Given the description of an element on the screen output the (x, y) to click on. 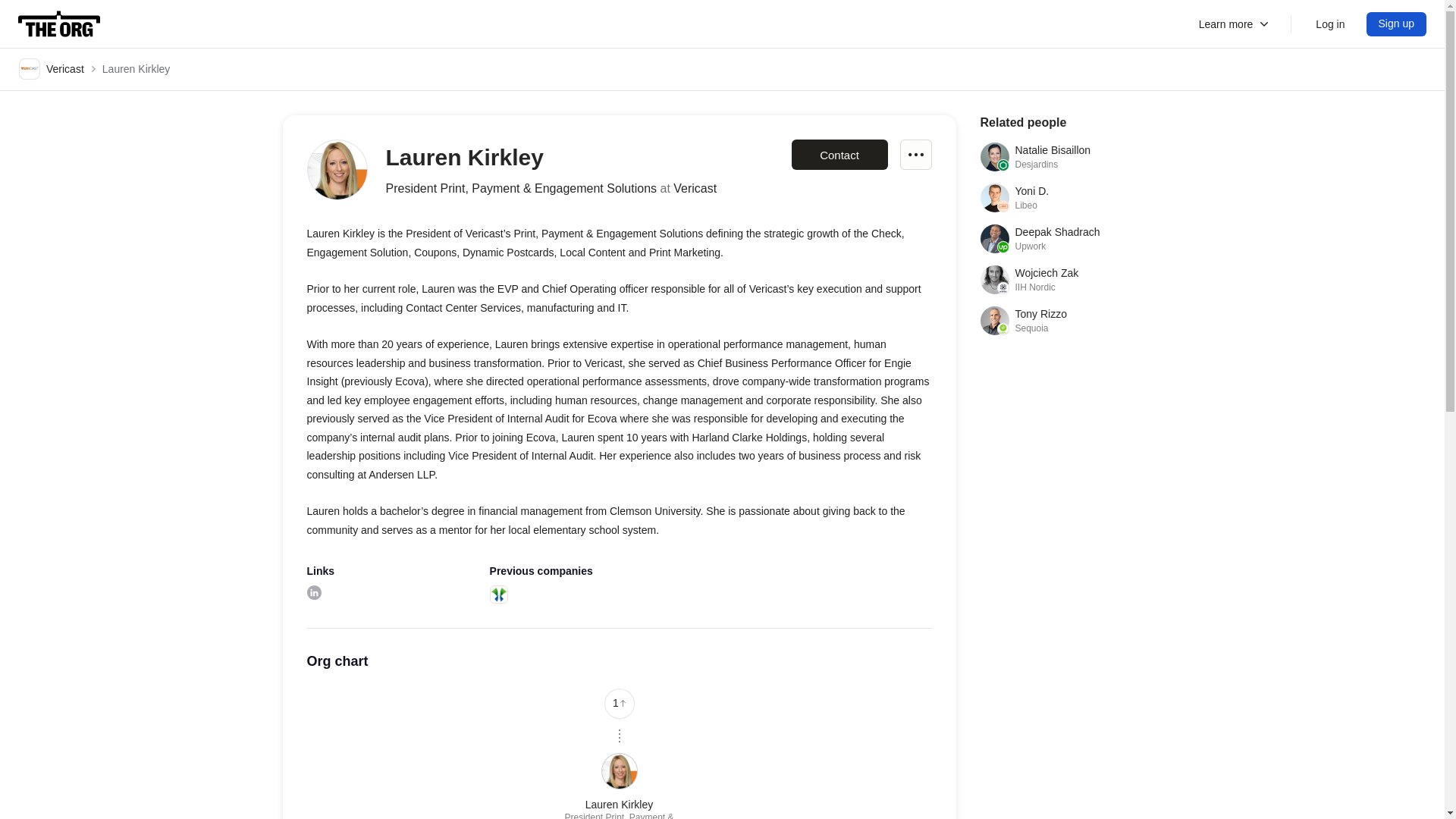
1 (618, 703)
Sign up to The Org (1396, 24)
Join, edit and report menu (1070, 197)
View on linkedIn (1070, 238)
The Org Home (915, 154)
Log in to The Org (312, 592)
